Given the description of an element on the screen output the (x, y) to click on. 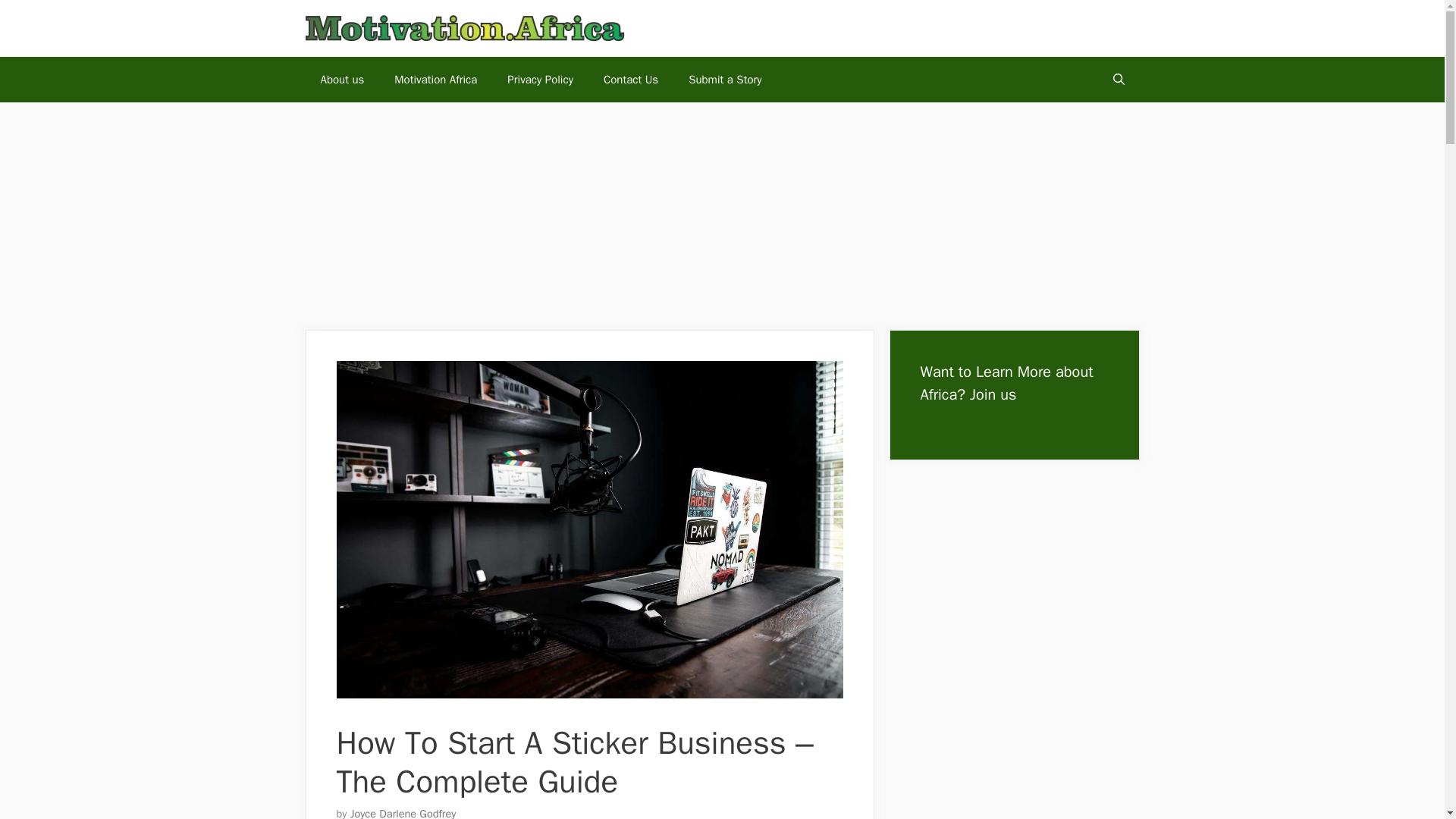
Contact Us (630, 79)
Joyce Darlene Godfrey (403, 812)
View all posts by Joyce Darlene Godfrey (403, 812)
Submit a Story (724, 79)
Privacy Policy (540, 79)
Motivation Africa (435, 79)
About us (341, 79)
